Given the description of an element on the screen output the (x, y) to click on. 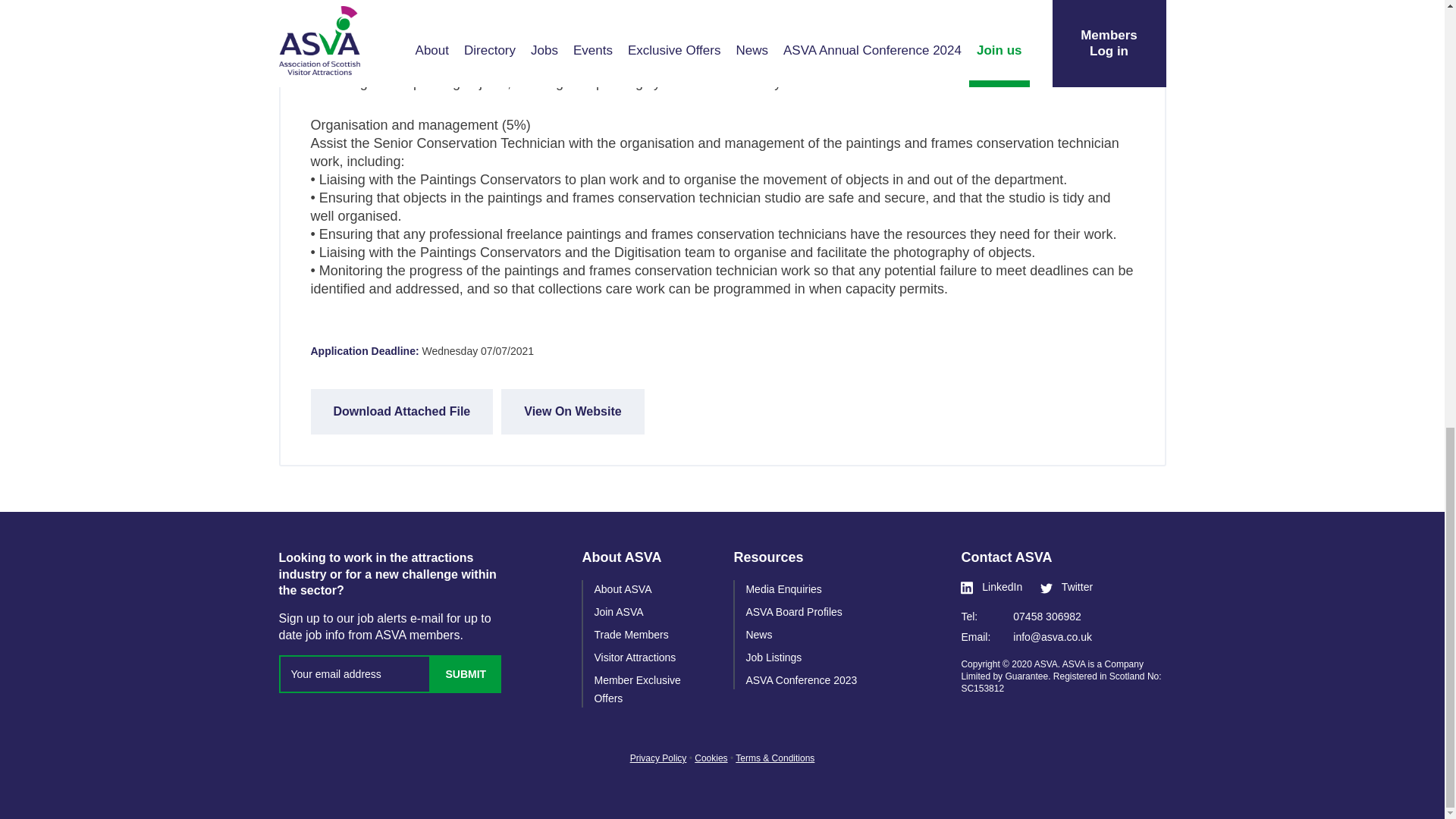
ASVA Board Profiles (793, 612)
Privacy Policy (658, 757)
ASVA Conference 2023 (801, 680)
LinkedIn (991, 586)
View On Website (571, 411)
Member Exclusive Offers (636, 689)
Job Listings (773, 657)
Media Enquiries (783, 589)
Visitor Attractions (634, 657)
Cookies (710, 757)
Join ASVA (618, 612)
Twitter (1067, 586)
News (758, 634)
SUBMIT (466, 673)
Download Attached File (402, 411)
